Given the description of an element on the screen output the (x, y) to click on. 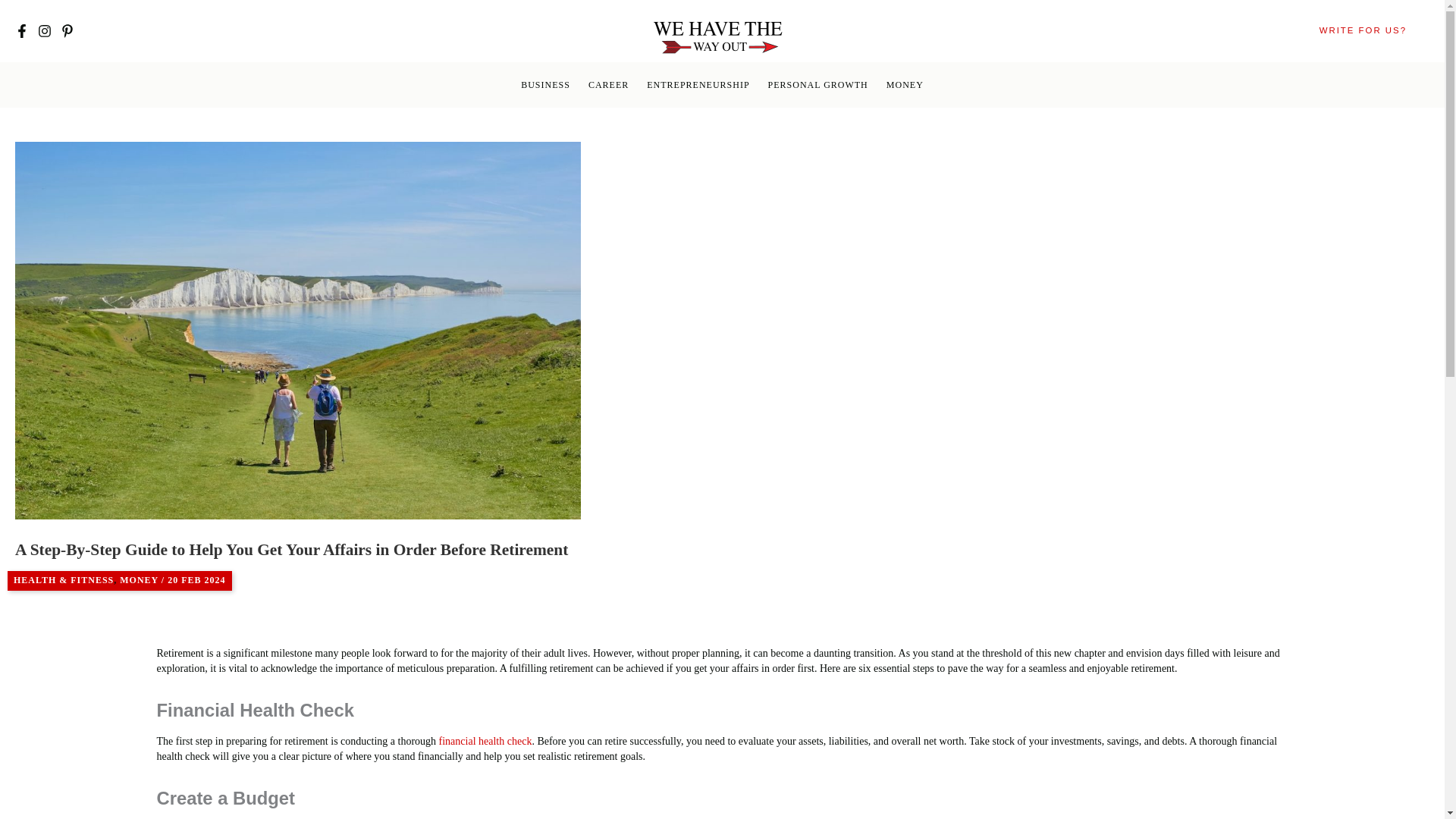
MONEY (905, 84)
WRITE FOR US? (1363, 30)
BUSINESS (545, 84)
PERSONAL GROWTH (817, 84)
ENTREPRENEURSHIP (697, 84)
CAREER (608, 84)
MONEY (138, 579)
financial health check (485, 740)
